Given the description of an element on the screen output the (x, y) to click on. 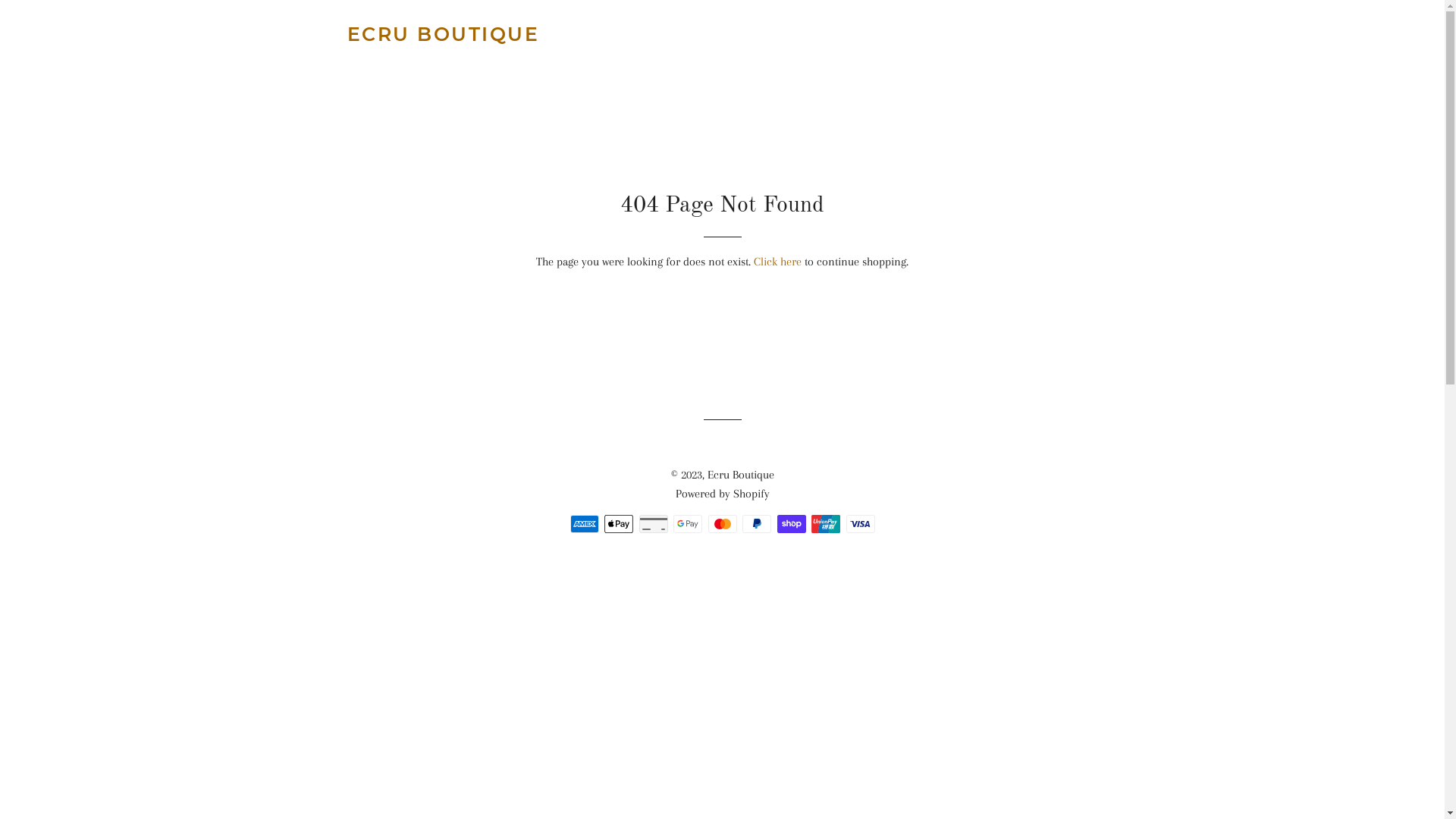
Ecru Boutique Element type: text (739, 474)
ECRU BOUTIQUE Element type: text (443, 34)
Powered by Shopify Element type: text (721, 493)
Click here Element type: text (777, 261)
